Given the description of an element on the screen output the (x, y) to click on. 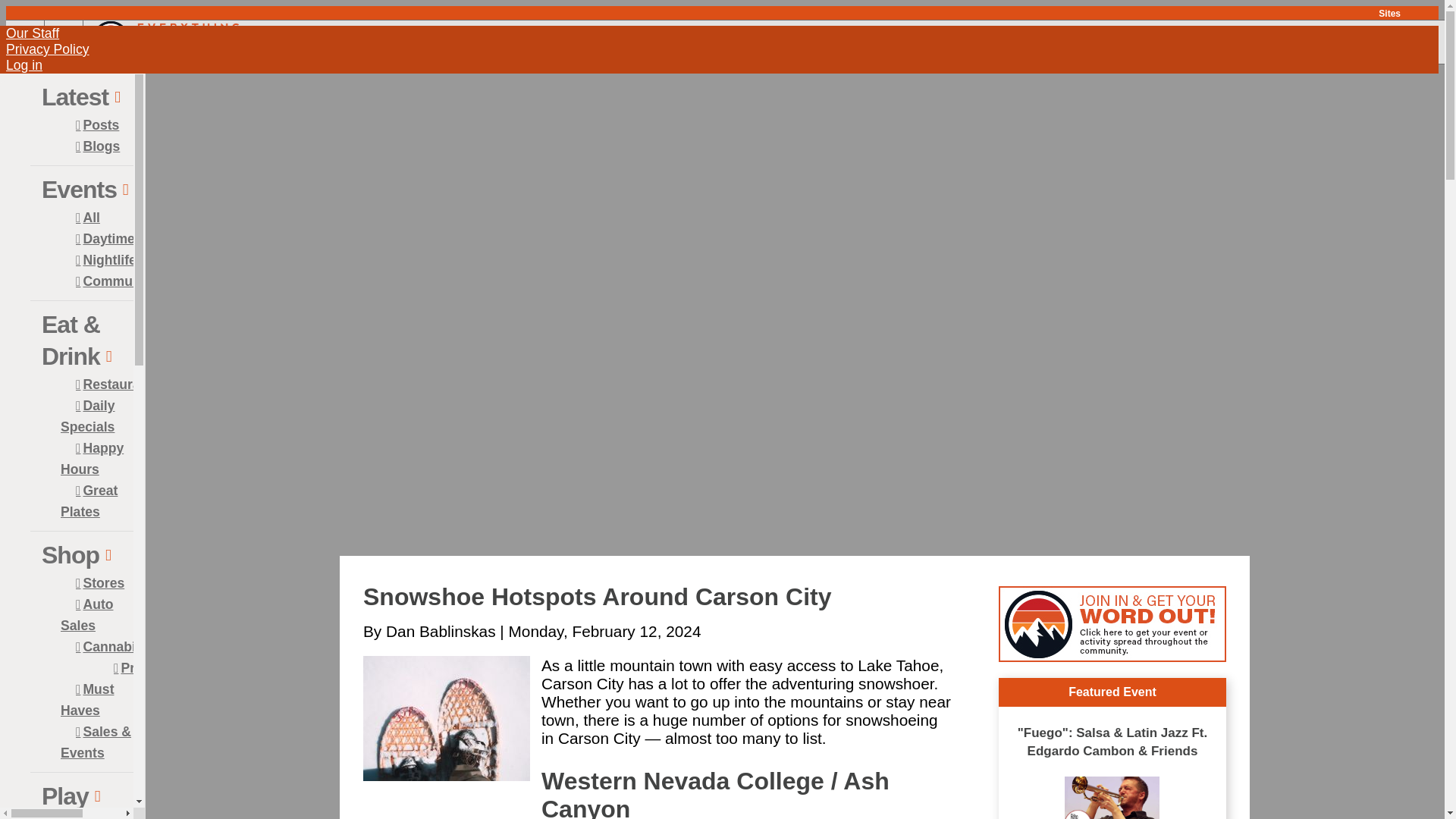
Blogs (98, 146)
Daytime (105, 239)
Restaurants (117, 384)
Auto Sales (87, 614)
Things To Do (93, 816)
Great Plates (89, 500)
Happy Hours (92, 458)
Products (141, 668)
Community (116, 280)
Cannabis (109, 647)
Home (165, 50)
Nightlife (106, 259)
Stores (100, 583)
